Given the description of an element on the screen output the (x, y) to click on. 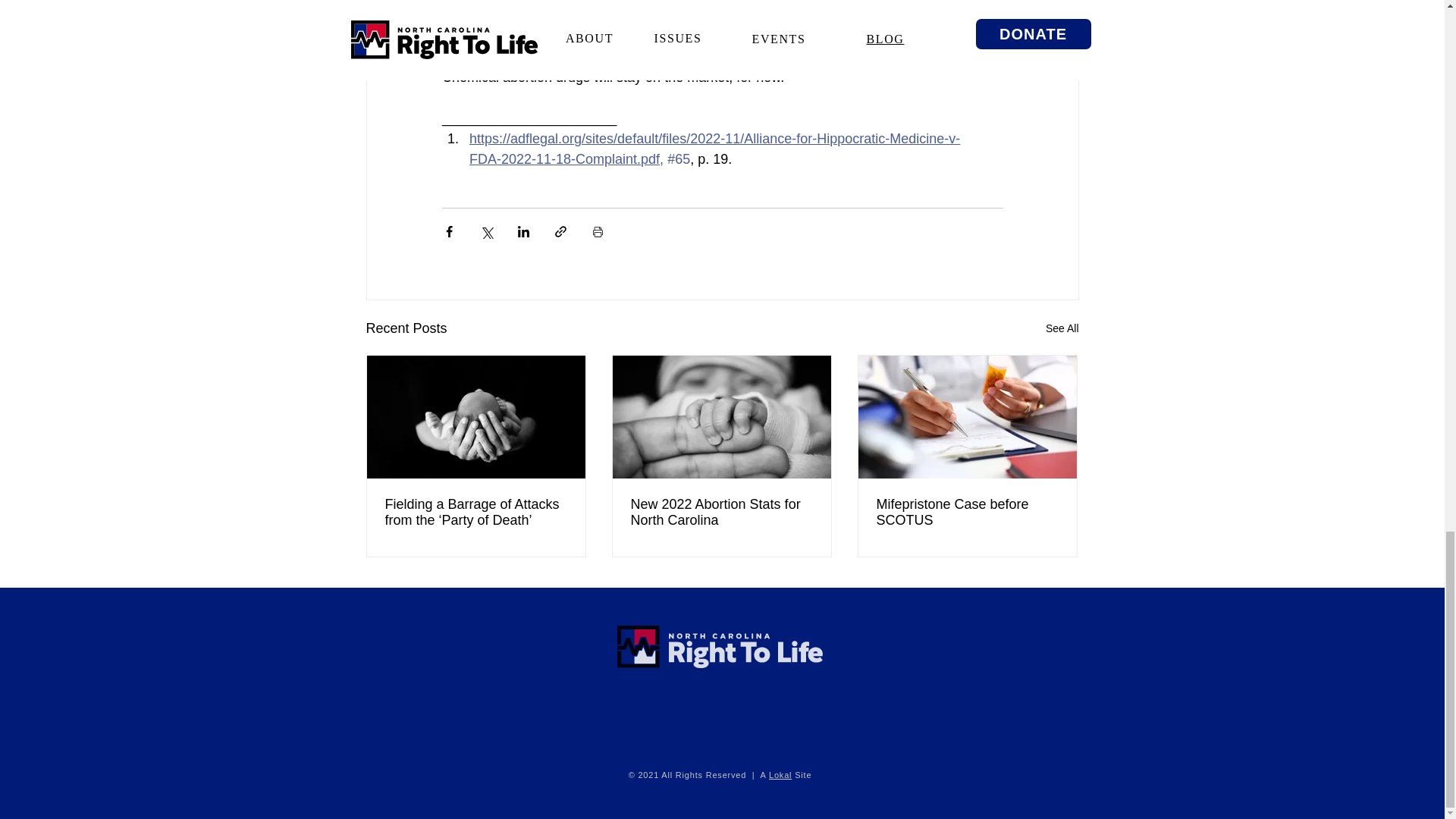
New 2022 Abortion Stats for North Carolina (721, 512)
See All (1061, 328)
Lokal (780, 774)
Mifepristone Case before SCOTUS (967, 512)
